Given the description of an element on the screen output the (x, y) to click on. 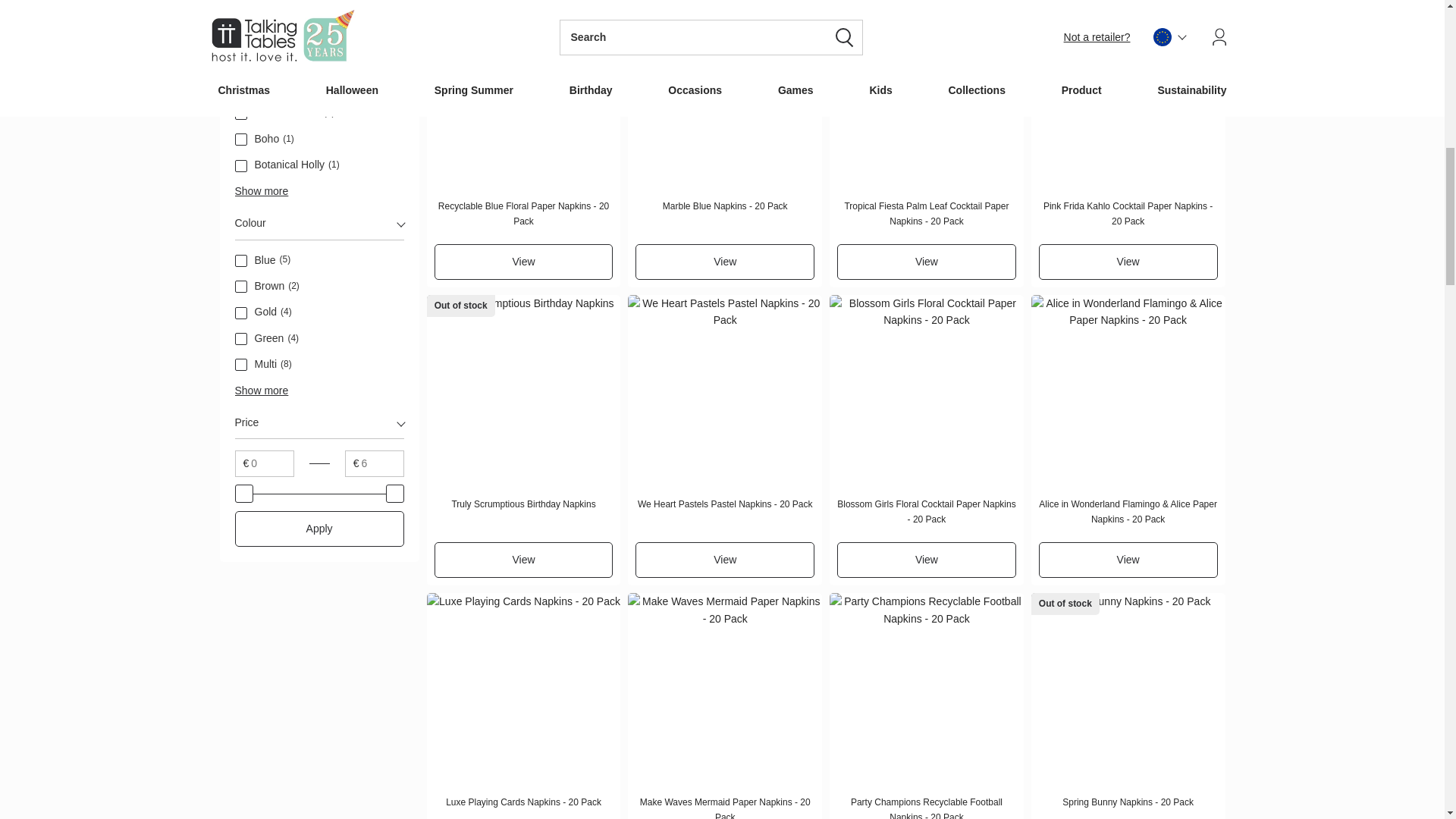
Blossom Girls (240, 113)
Gold (240, 313)
Birthday Brights (240, 87)
Blue (240, 260)
Multi (240, 364)
Boho (240, 139)
Brown (240, 286)
Alice Brights (240, 61)
Botanical Holly (240, 165)
Green (240, 338)
